Given the description of an element on the screen output the (x, y) to click on. 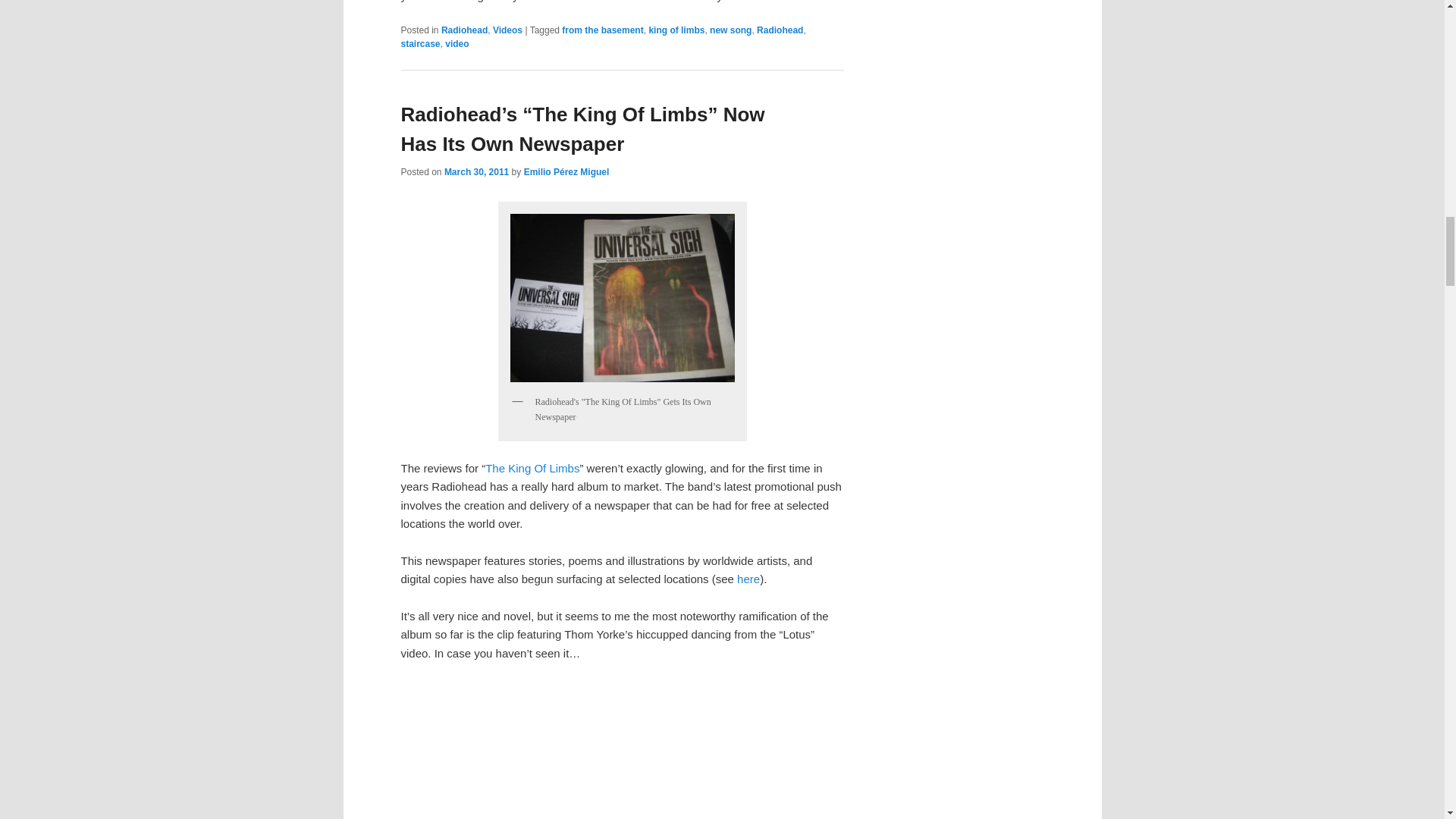
new song (730, 30)
The King Of Limbs (531, 468)
video (456, 43)
Radiohead (780, 30)
radiohead king of limbs newspaper (622, 297)
from the basement (602, 30)
March 30, 2011 (476, 172)
staircase (419, 43)
3:51 pm (476, 172)
king of limbs (675, 30)
